Given the description of an element on the screen output the (x, y) to click on. 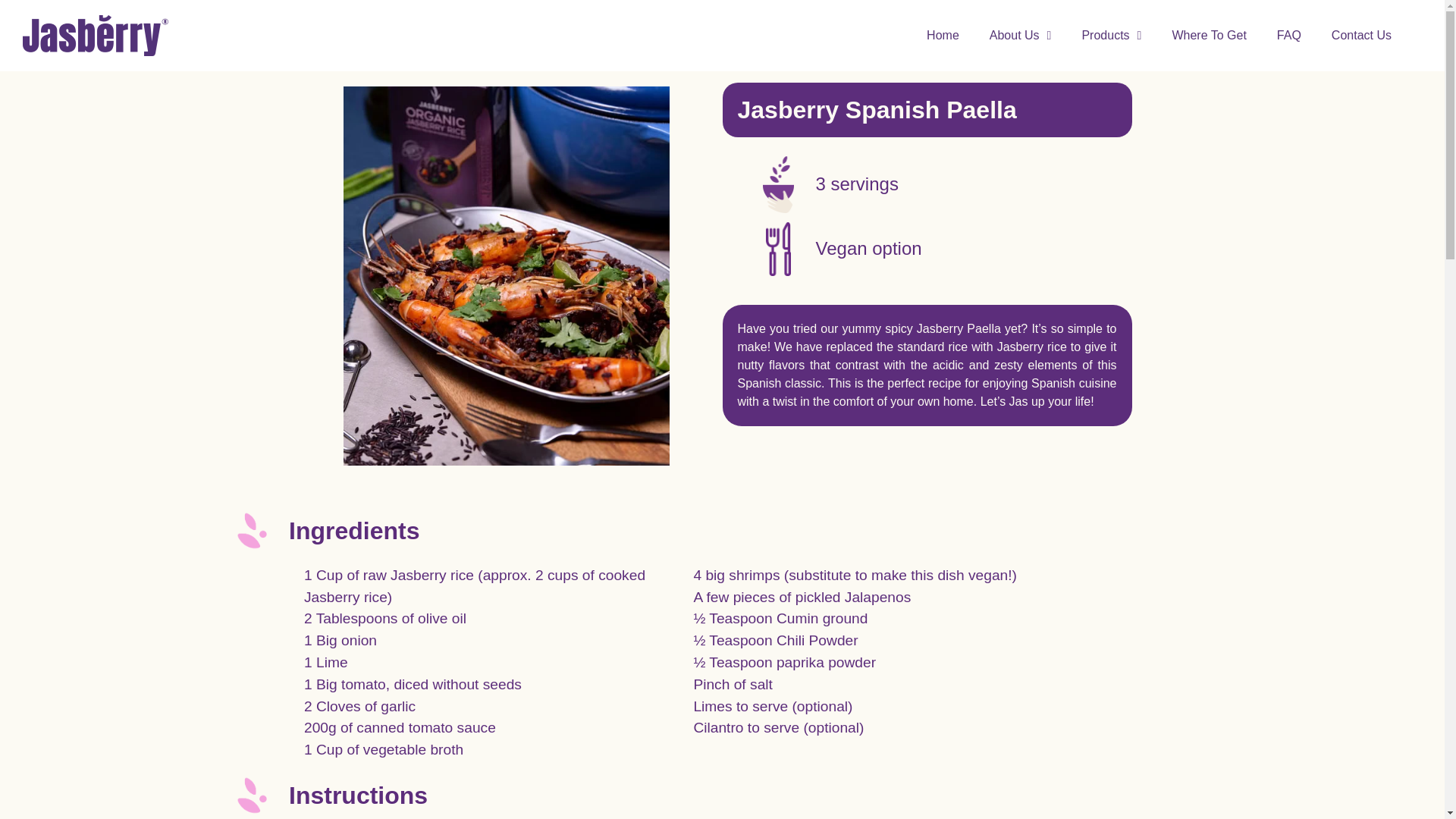
FAQ (1289, 35)
Home (942, 35)
Where To Get (1208, 35)
About Us (1020, 35)
Products (1110, 35)
Contact Us (1361, 35)
